Given the description of an element on the screen output the (x, y) to click on. 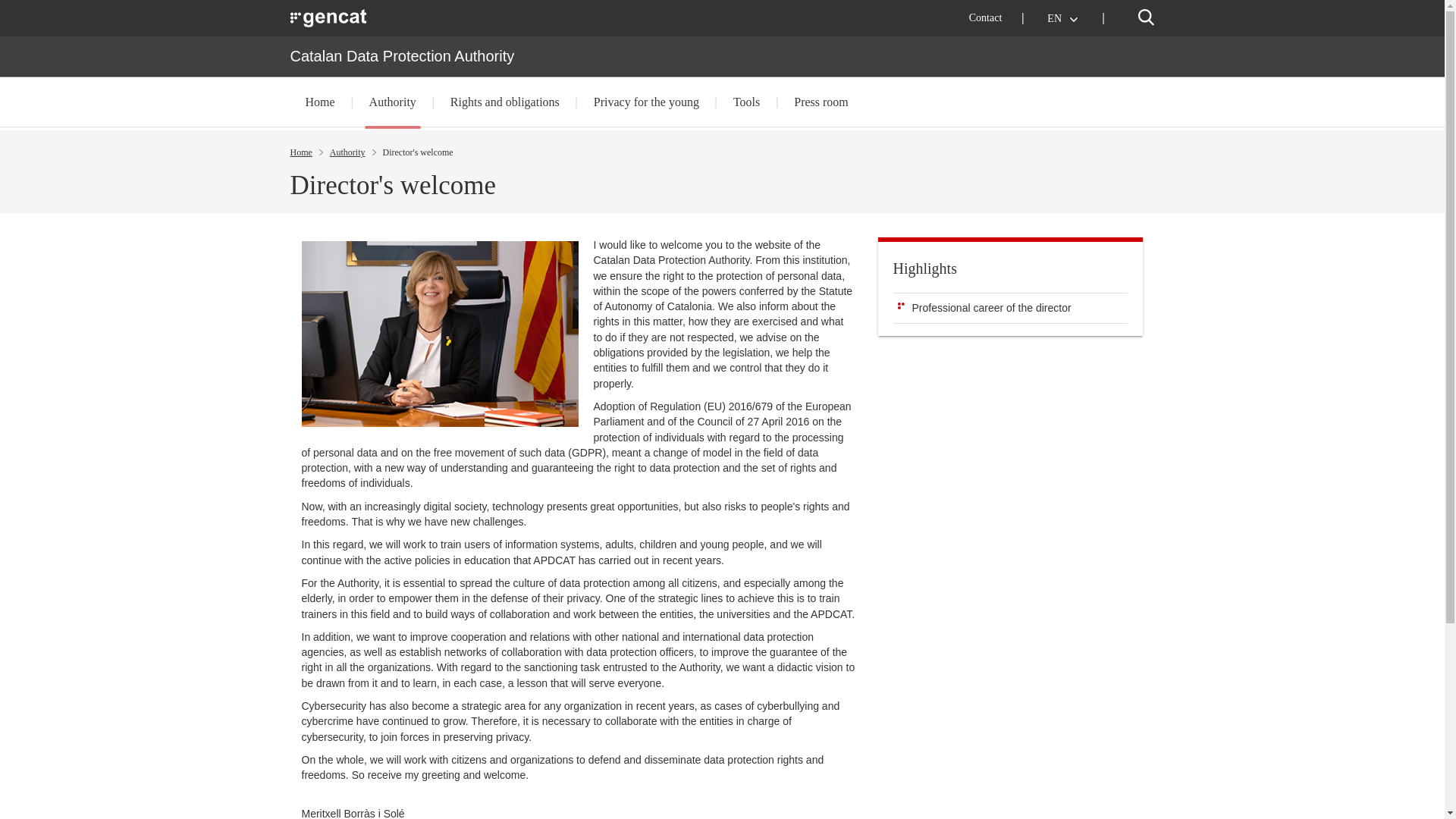
Catalan Data Protection Authority (401, 55)
. Open in a new window. (328, 16)
Contact (986, 18)
Search engine (1144, 17)
Select language (1063, 18)
EN (1063, 18)
Catalan Data Protection Authority (401, 55)
Authority (392, 101)
Home (319, 101)
